Given the description of an element on the screen output the (x, y) to click on. 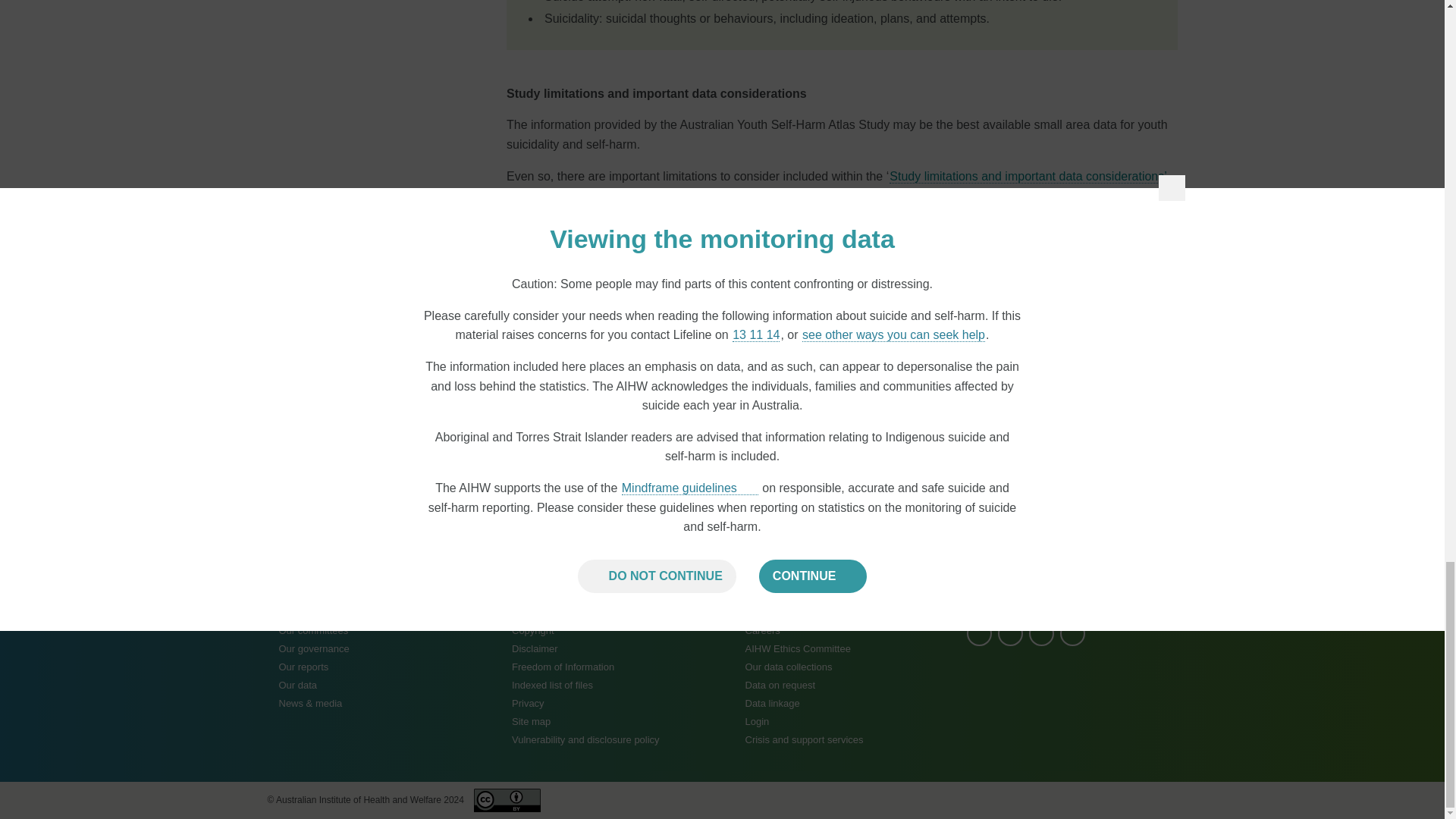
Back to top (1133, 537)
